Given the description of an element on the screen output the (x, y) to click on. 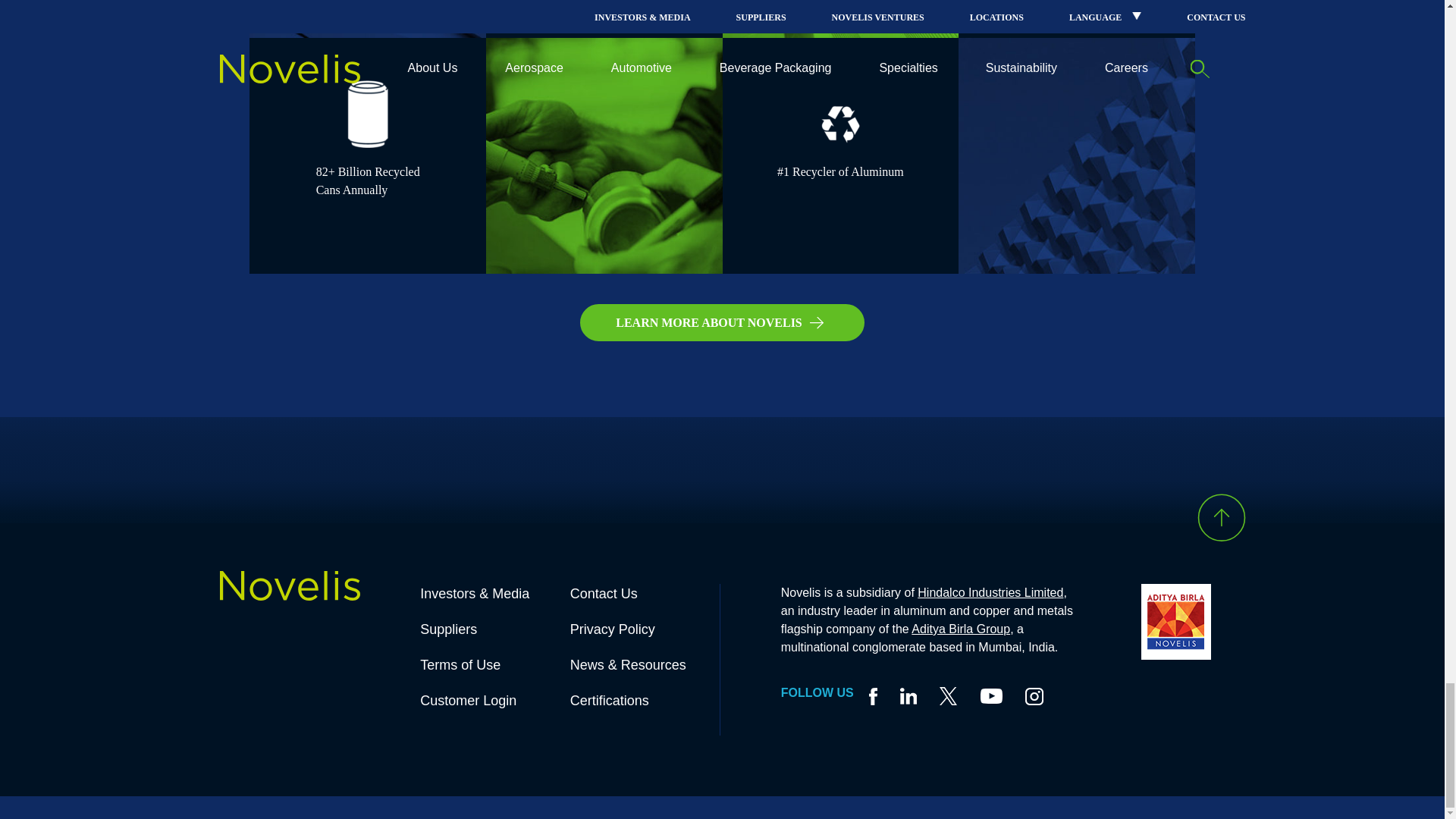
Novelis (289, 585)
Novelis (289, 592)
